Given the description of an element on the screen output the (x, y) to click on. 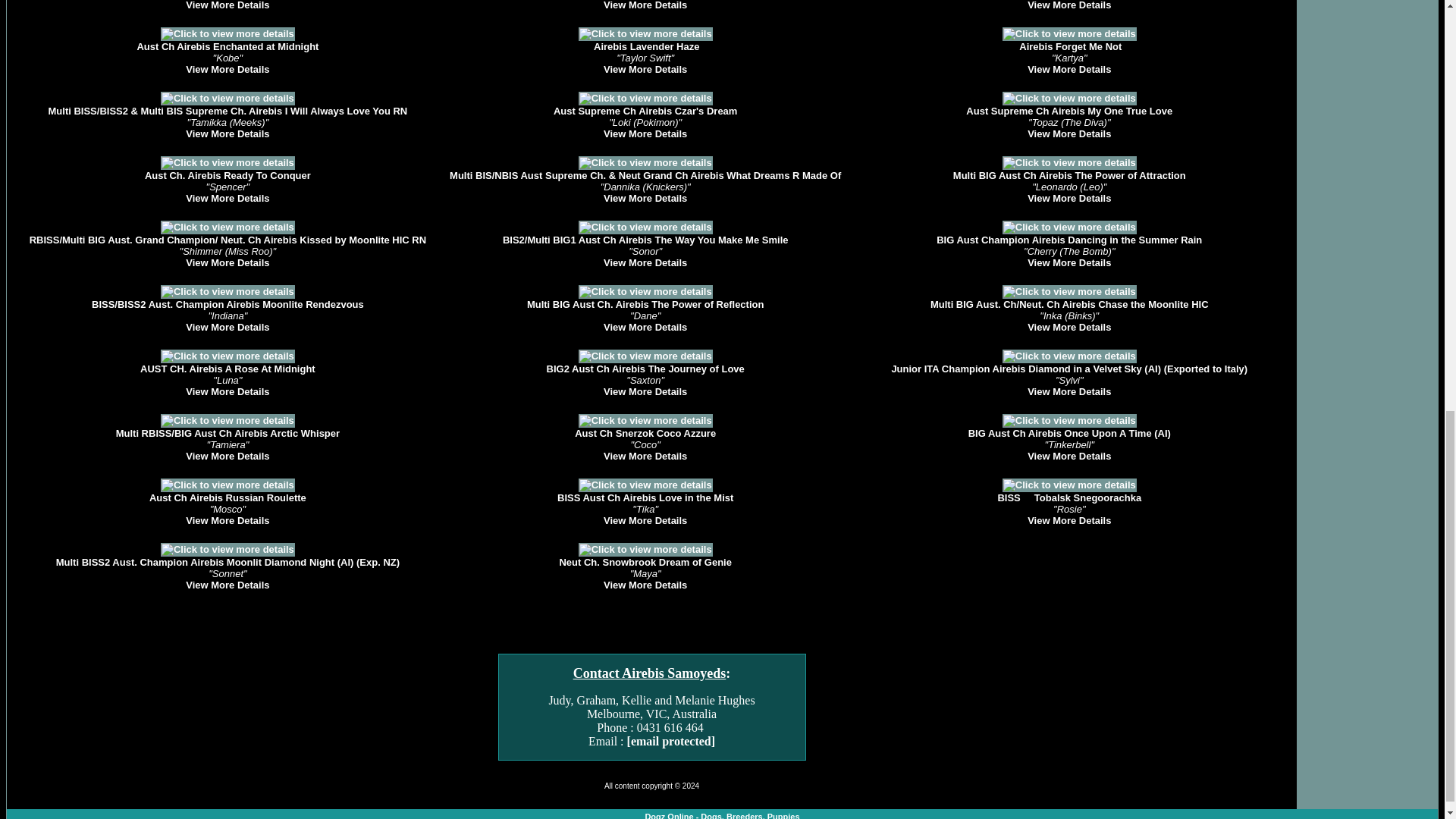
View More Details (1068, 69)
View More Details (227, 69)
View More Details (645, 197)
View More Details (645, 5)
View More Details (227, 133)
View More Details (645, 133)
View More Details (1068, 133)
View More Details (227, 5)
View More Details (227, 197)
View More Details (227, 262)
